Given the description of an element on the screen output the (x, y) to click on. 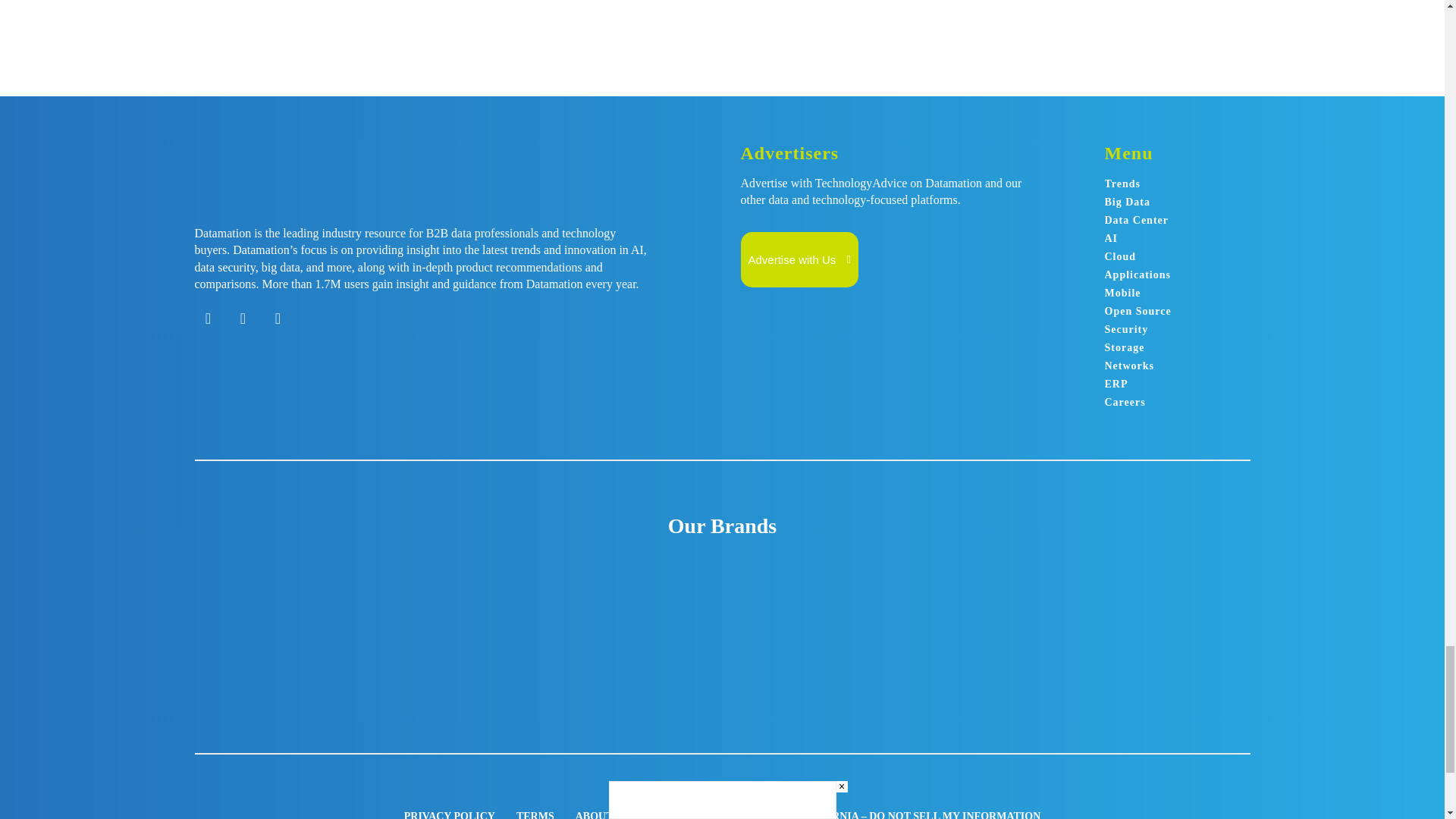
Ultimate Guide to Data Visualization Jobs (540, 5)
5 Top Coursera Data Analytics Certification Courses Of 2024 (782, 5)
